Given the description of an element on the screen output the (x, y) to click on. 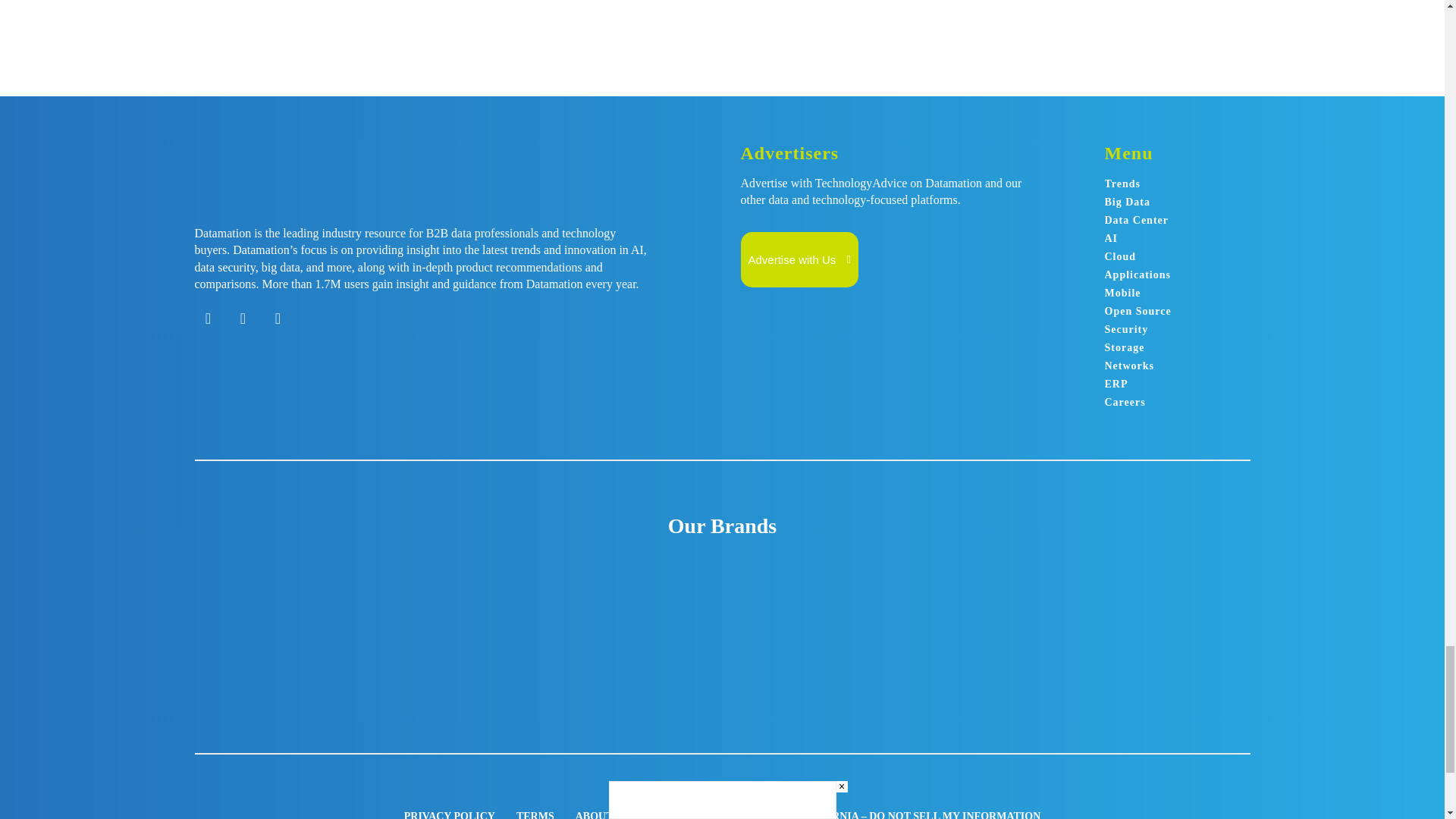
Ultimate Guide to Data Visualization Jobs (540, 5)
5 Top Coursera Data Analytics Certification Courses Of 2024 (782, 5)
